Given the description of an element on the screen output the (x, y) to click on. 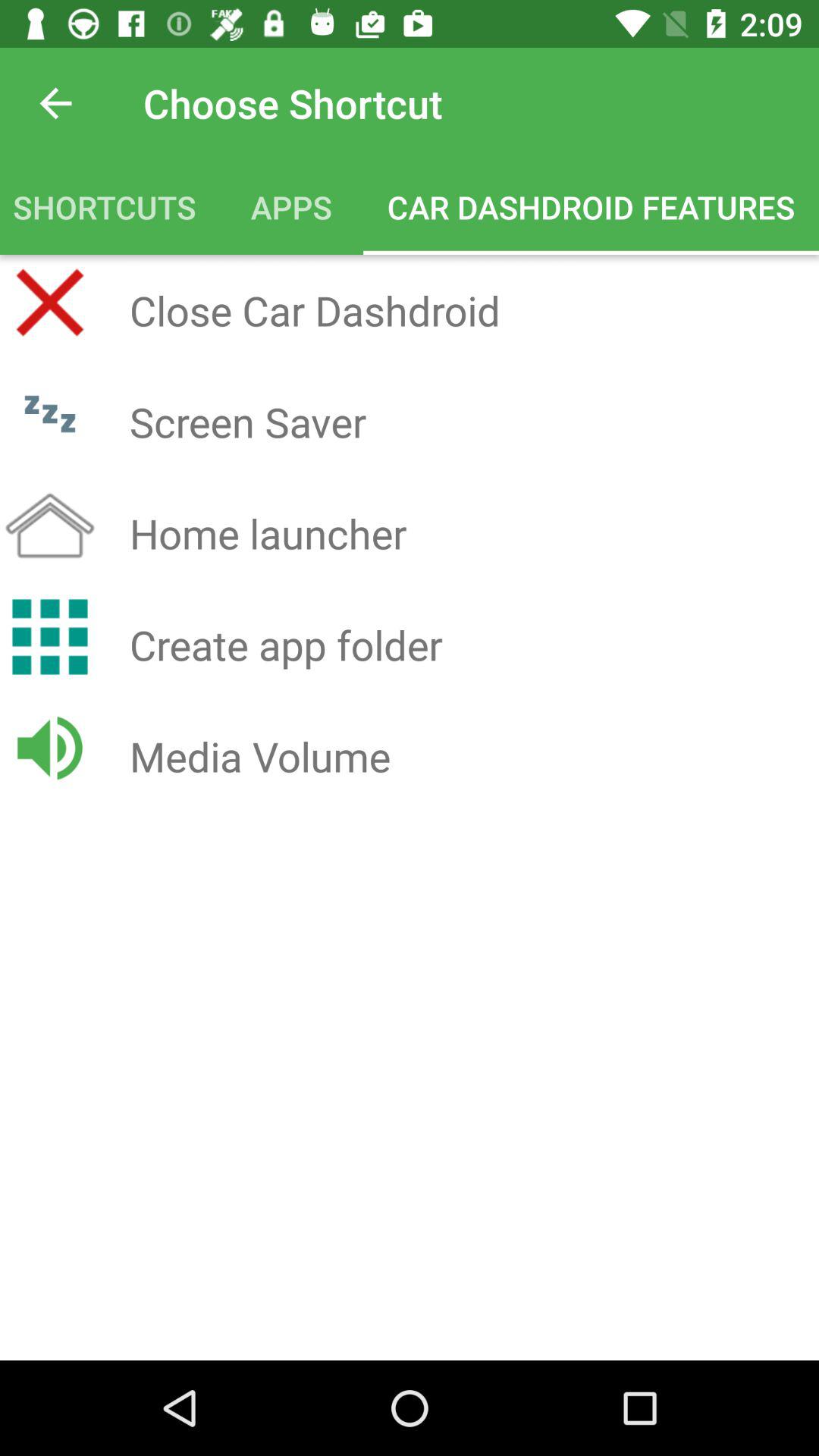
press icon above the shortcuts icon (55, 103)
